Given the description of an element on the screen output the (x, y) to click on. 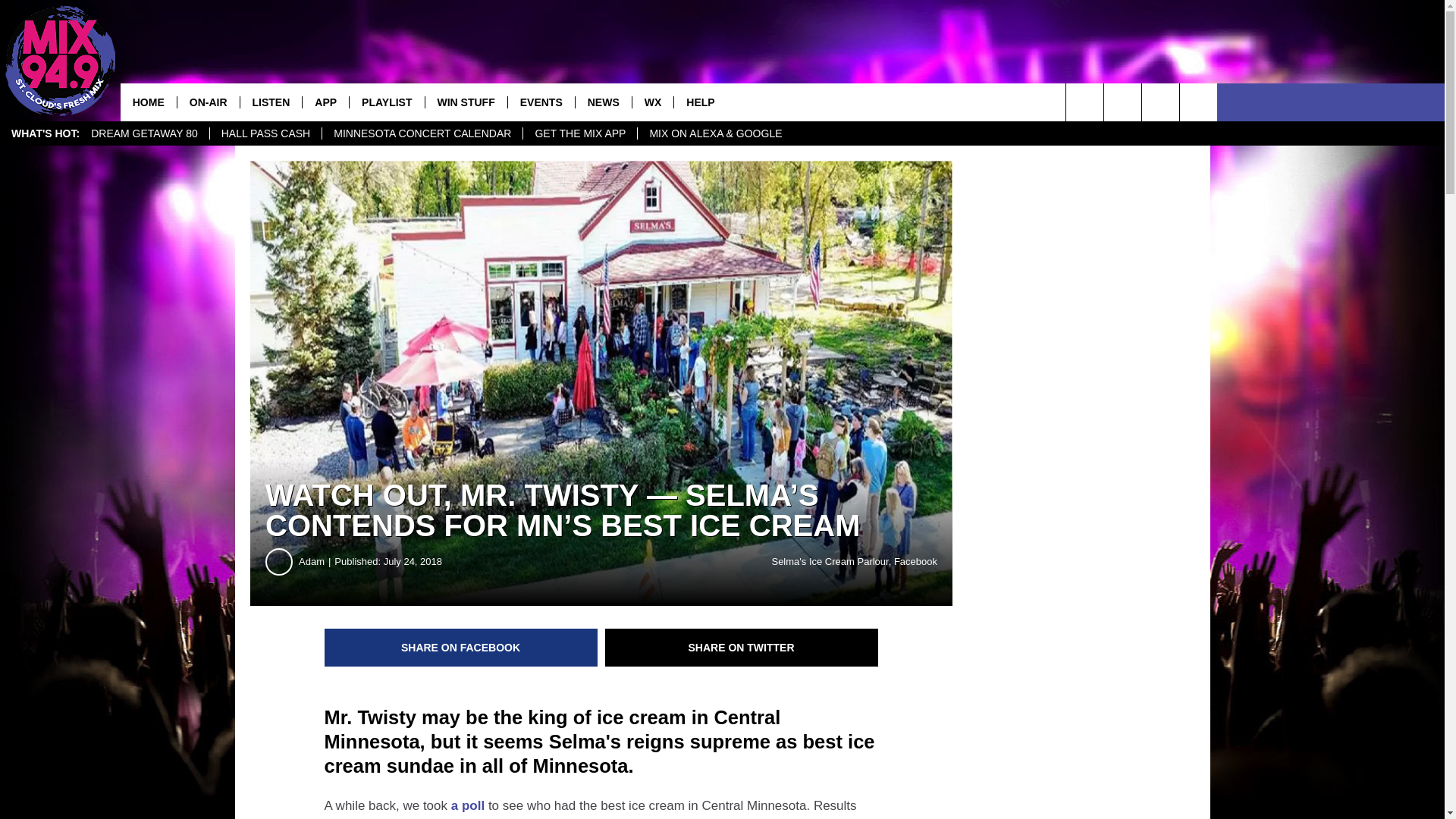
Share on Twitter (741, 647)
PLAYLIST (386, 102)
EVENTS (540, 102)
APP (325, 102)
GET THE MIX APP (579, 133)
HALL PASS CASH (265, 133)
HOME (148, 102)
Share on Facebook (460, 647)
DREAM GETAWAY 80 (144, 133)
WIN STUFF (465, 102)
